Given the description of an element on the screen output the (x, y) to click on. 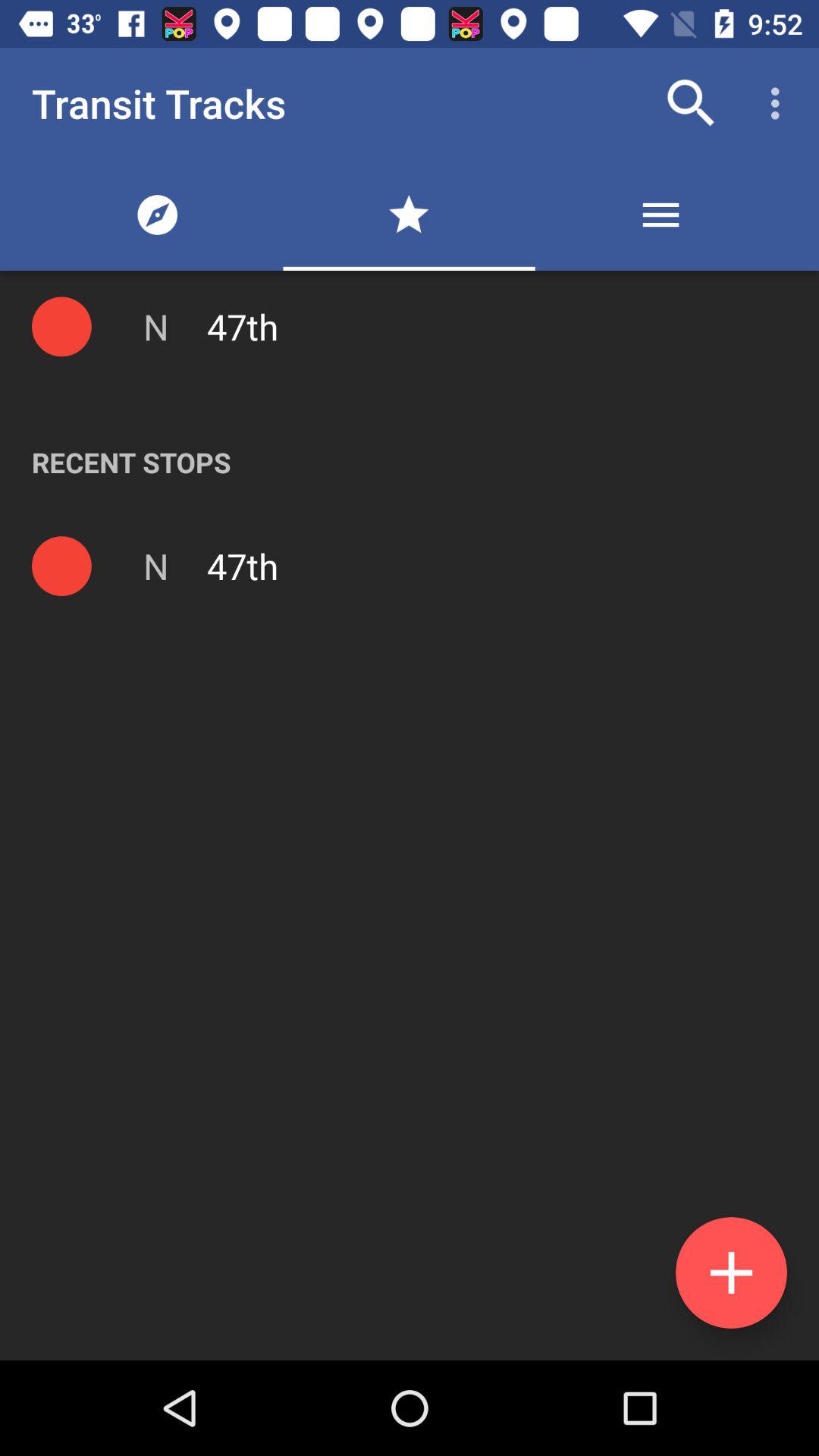
add new data (731, 1272)
